Given the description of an element on the screen output the (x, y) to click on. 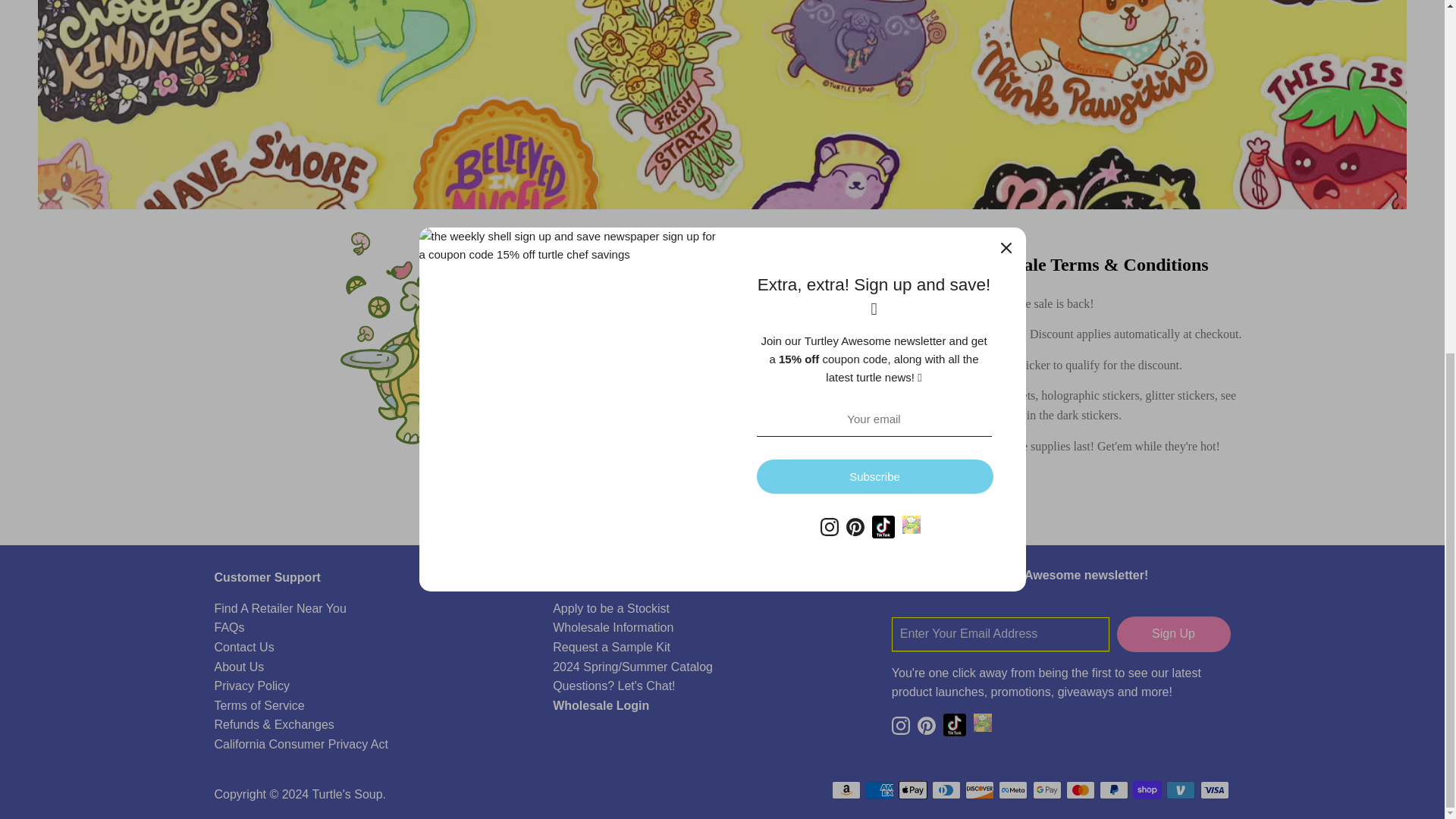
Amazon (845, 790)
American Express (878, 790)
Discover (979, 790)
Meta Pay (1012, 790)
Apple Pay (912, 790)
Diners Club (945, 790)
